Given the description of an element on the screen output the (x, y) to click on. 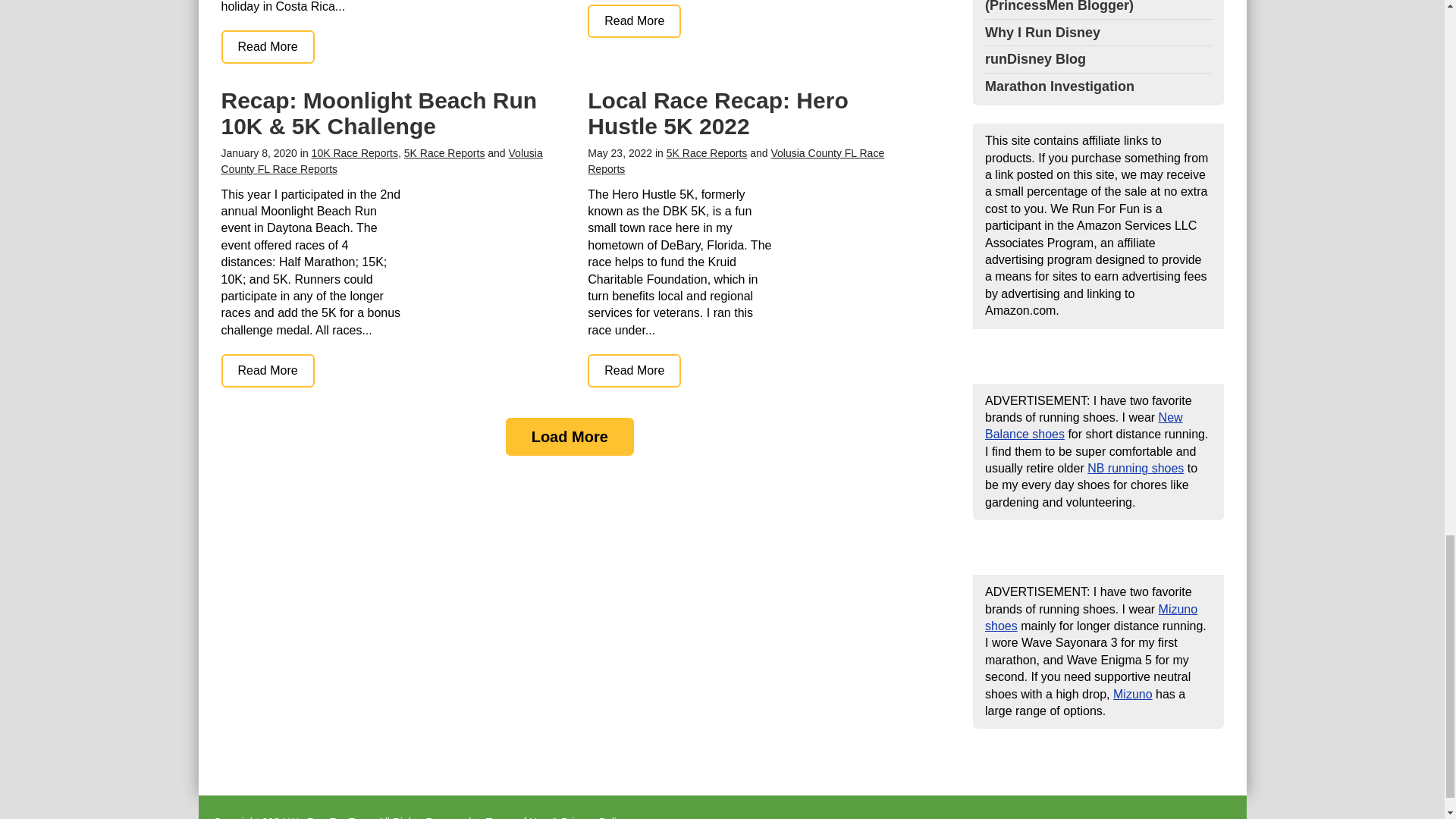
Read More (267, 46)
Local Race Recap: Hero Hustle 5K 2022 (717, 112)
Read More (267, 370)
Volusia County FL Race Reports (382, 161)
Local Race Recap: Hero Hustle 5K 2022 (634, 370)
5K Race Reports (444, 152)
10K Race Reports (354, 152)
5K Race Reports (707, 152)
Read More (634, 20)
